Given the description of an element on the screen output the (x, y) to click on. 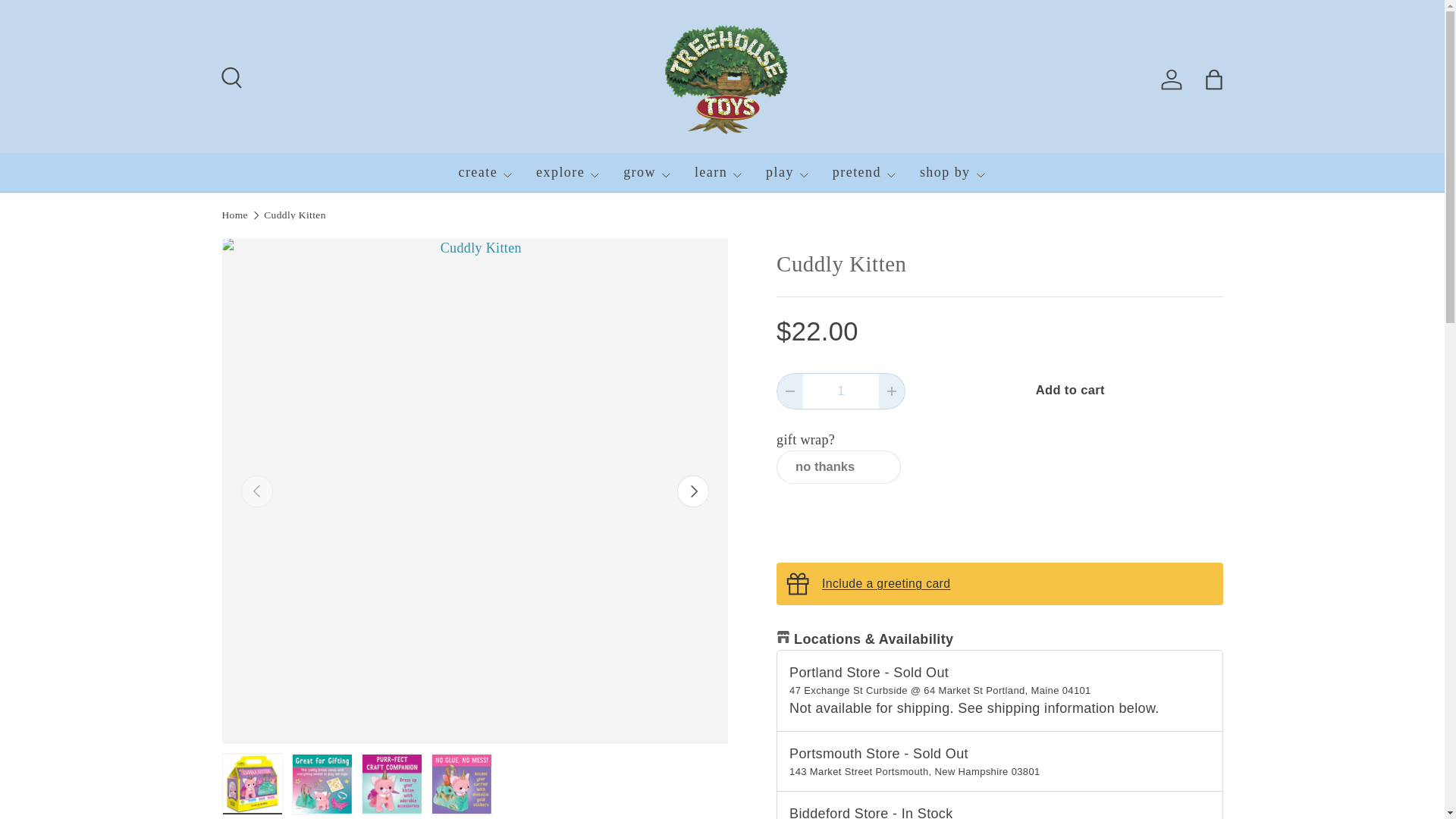
Search (229, 75)
greeting cards (886, 583)
Skip to content (64, 21)
1 (841, 391)
Log in (1171, 79)
Bag (1213, 79)
create (485, 172)
